Given the description of an element on the screen output the (x, y) to click on. 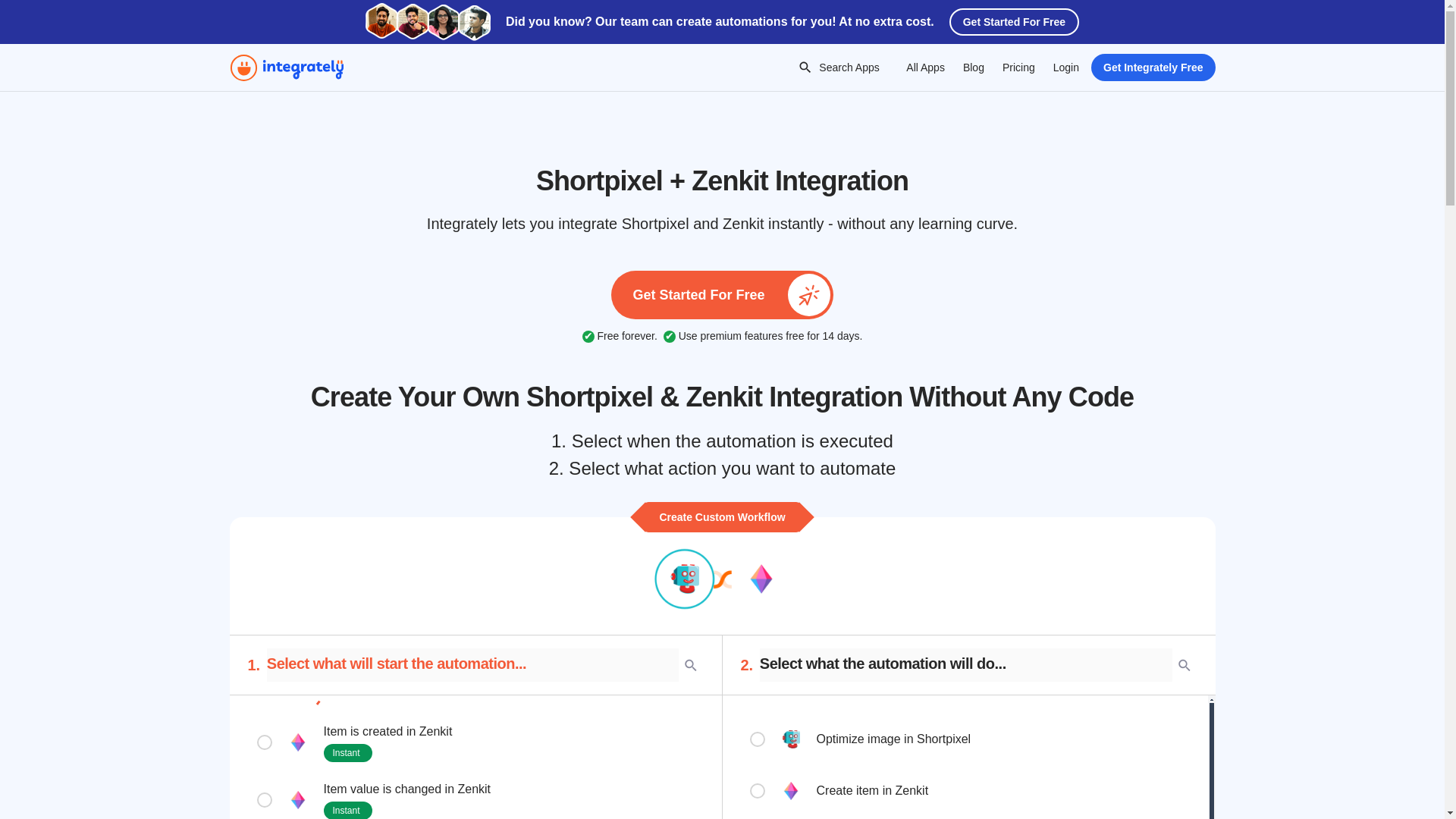
Login (1065, 67)
All Apps (924, 67)
Get Started For Free (721, 295)
Get Integrately Free (1152, 67)
Blog (973, 67)
Pricing (1018, 67)
Get Started For Free (1013, 22)
